Given the description of an element on the screen output the (x, y) to click on. 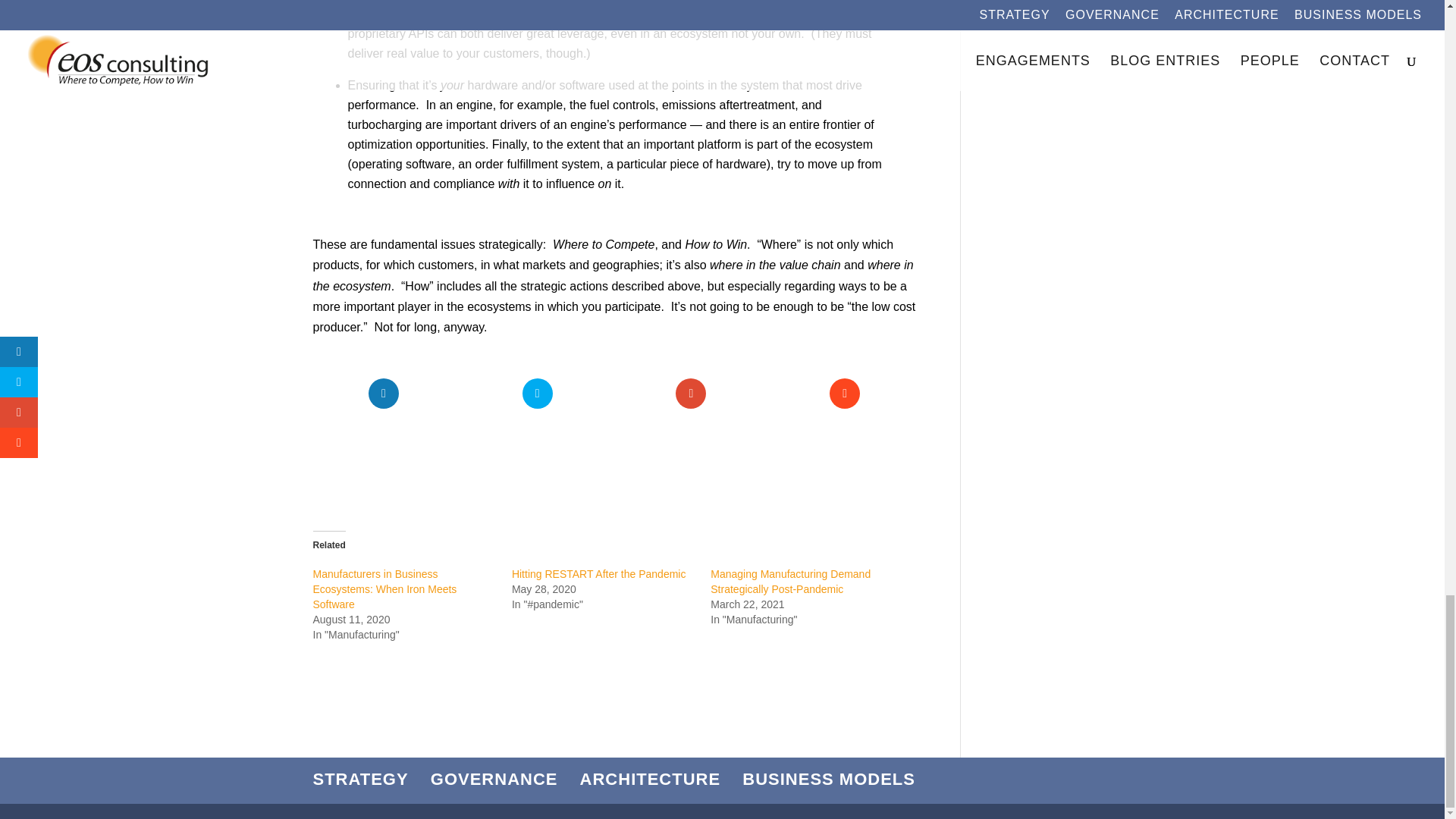
ARCHITECTURE (649, 778)
Managing Manufacturing Demand Strategically Post-Pandemic (790, 581)
STRATEGY (360, 778)
BUSINESS MODELS (828, 778)
Hitting RESTART After the Pandemic (598, 573)
GOVERNANCE (493, 778)
Hitting RESTART After the Pandemic (598, 573)
Managing Manufacturing Demand Strategically Post-Pandemic (790, 581)
